Given the description of an element on the screen output the (x, y) to click on. 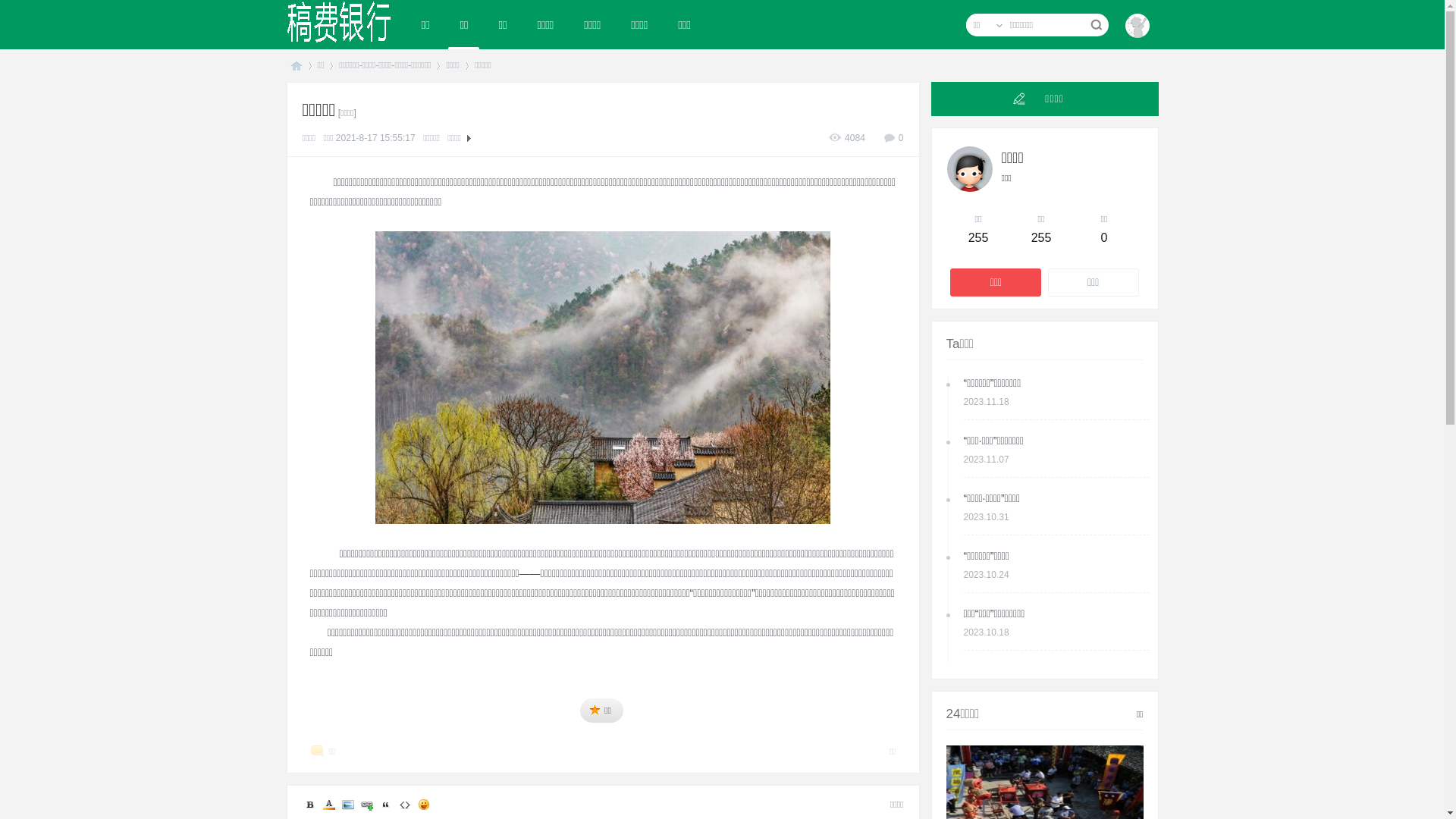
Link Element type: text (366, 804)
B Element type: text (308, 804)
Quote Element type: text (384, 804)
Smilies Element type: text (422, 804)
Color Element type: text (328, 804)
Code Element type: text (404, 804)
true Element type: text (1094, 24)
Image Element type: text (346, 804)
